Given the description of an element on the screen output the (x, y) to click on. 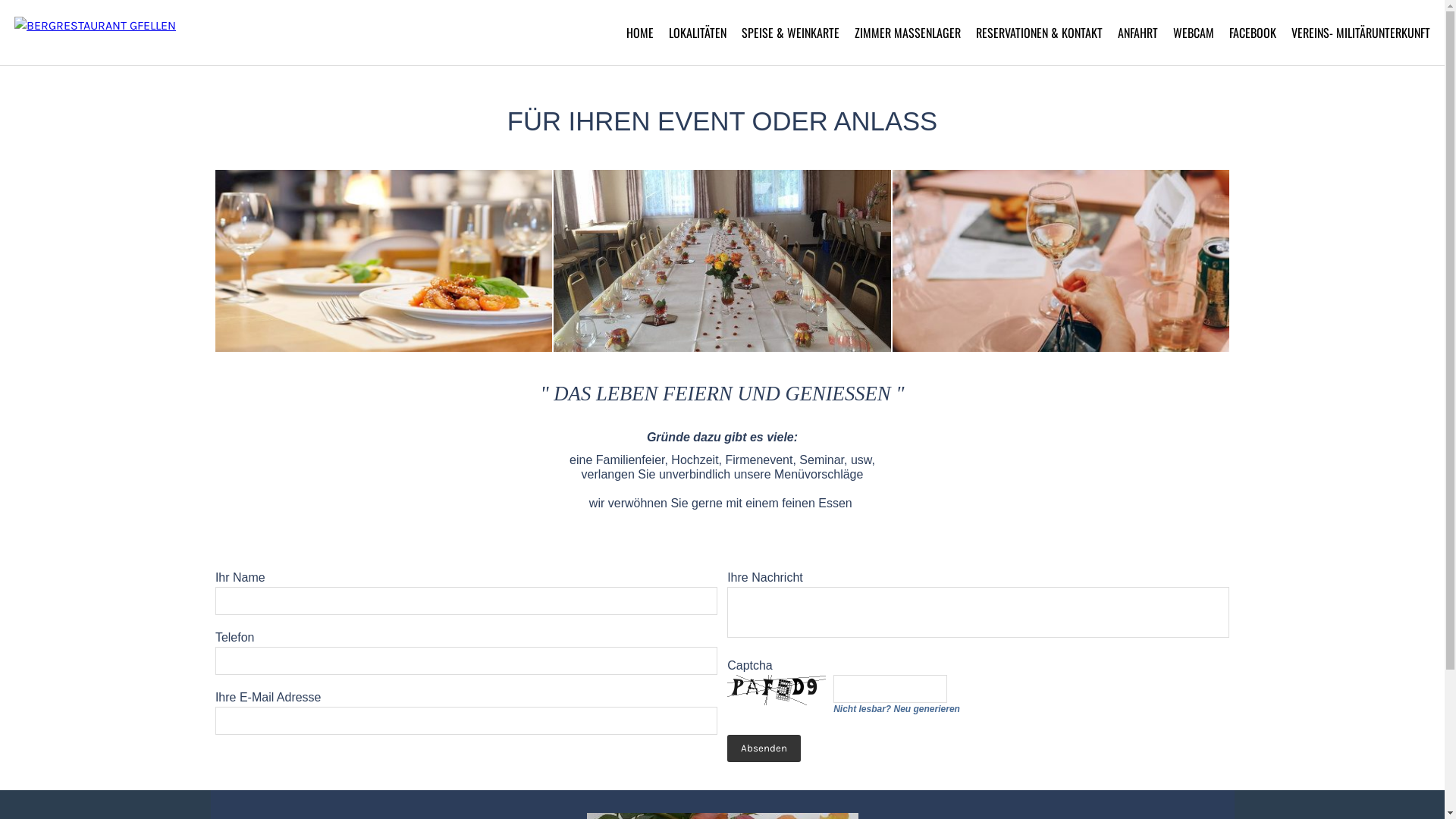
ZIMMER MASSENLAGER Element type: text (907, 32)
Nicht lesbar? Neu generieren Element type: text (978, 708)
ANFAHRT Element type: text (1137, 32)
FACEBOOK Element type: text (1252, 32)
HOME Element type: text (639, 32)
SPEISE & WEINKARTE Element type: text (790, 32)
WEBCAM Element type: text (1193, 32)
Absenden Element type: text (763, 748)
RESERVATIONEN & KONTAKT Element type: text (1038, 32)
